Given the description of an element on the screen output the (x, y) to click on. 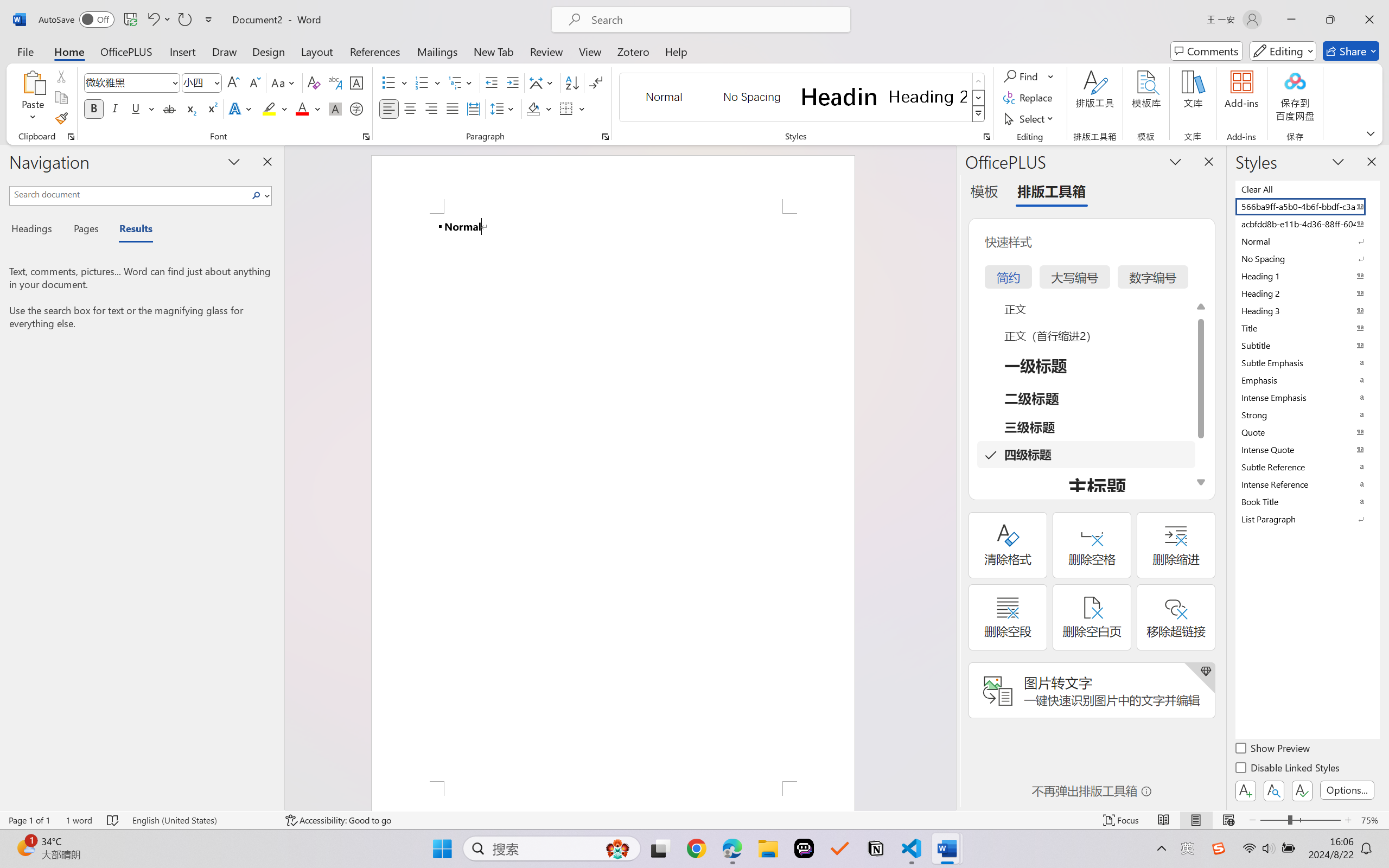
Layout (316, 51)
Class: MsoCommandBar (694, 819)
Increase Indent (512, 82)
Shading RGB(0, 0, 0) (533, 108)
Mode (1283, 50)
Multilevel List (461, 82)
Character Border (356, 82)
Shrink Font (253, 82)
